Given the description of an element on the screen output the (x, y) to click on. 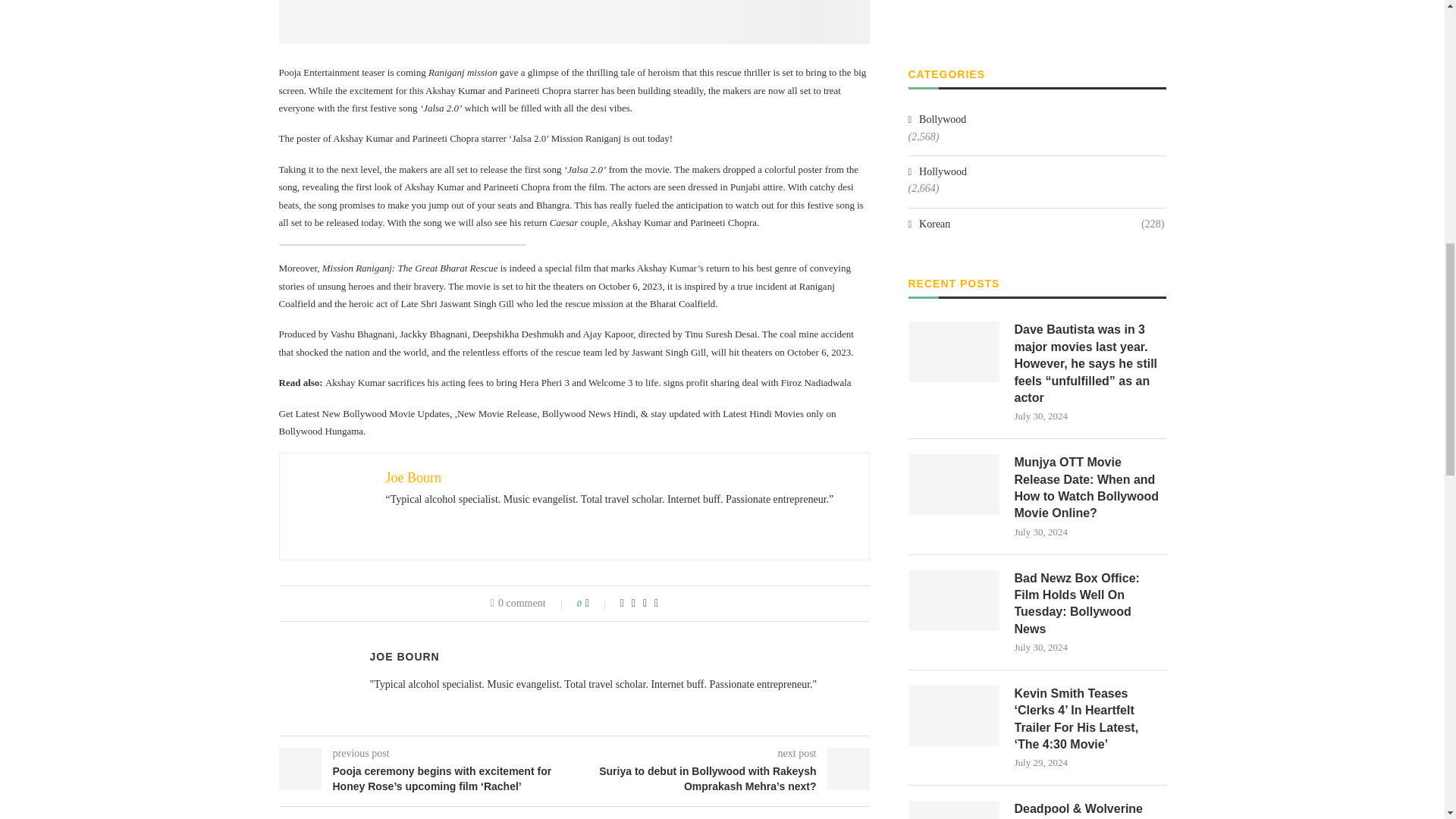
JOE BOURN (404, 656)
Joe Bourn (413, 477)
Author Joe Bourn (404, 656)
Like (597, 603)
